Given the description of an element on the screen output the (x, y) to click on. 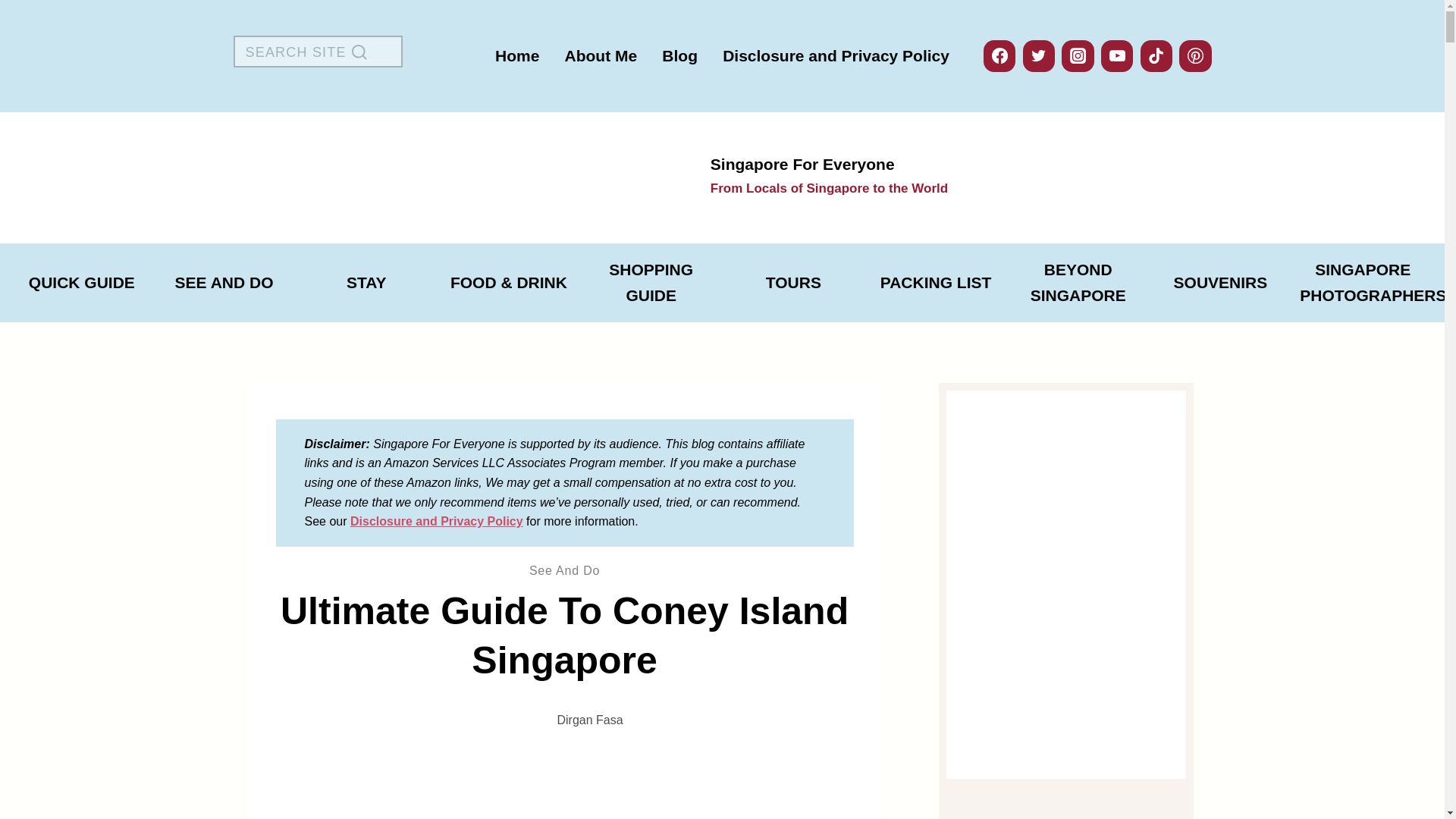
SEARCH SITE (317, 51)
Disclosure and Privacy Policy (436, 521)
Blog (721, 176)
SHOPPING GUIDE (679, 55)
About Me (650, 282)
PACKING LIST (600, 55)
See And Do (935, 282)
BEYOND SINGAPORE (564, 570)
Disclosure and Privacy Policy (1078, 282)
SINGAPORE PHOTOGRAPHERS (836, 55)
STAY (1362, 282)
SEE AND DO (366, 282)
QUICK GUIDE (223, 282)
SOUVENIRS (81, 282)
